Given the description of an element on the screen output the (x, y) to click on. 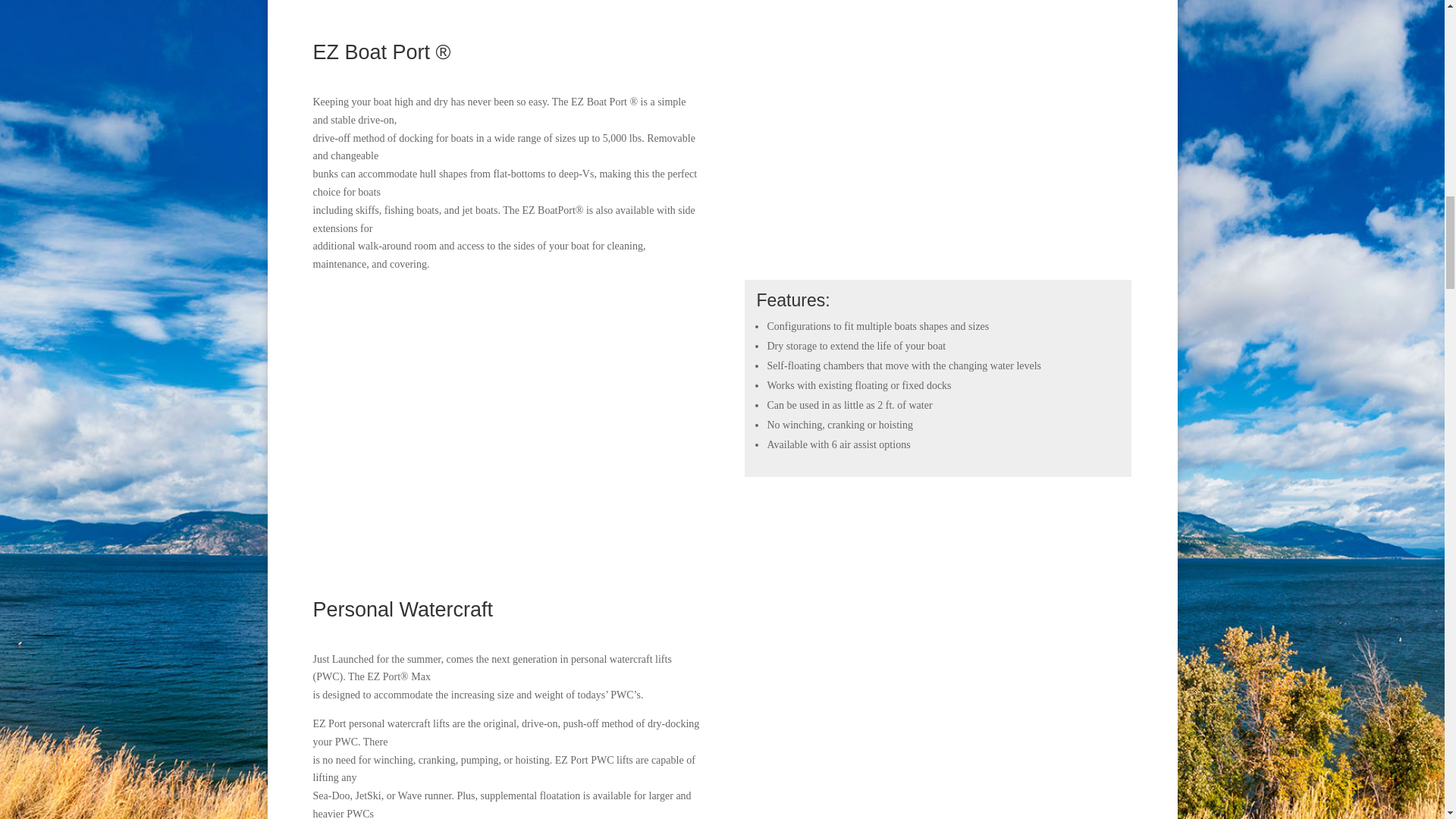
EZ Dock Personal Watercraft (937, 708)
Boatport (937, 149)
